Given the description of an element on the screen output the (x, y) to click on. 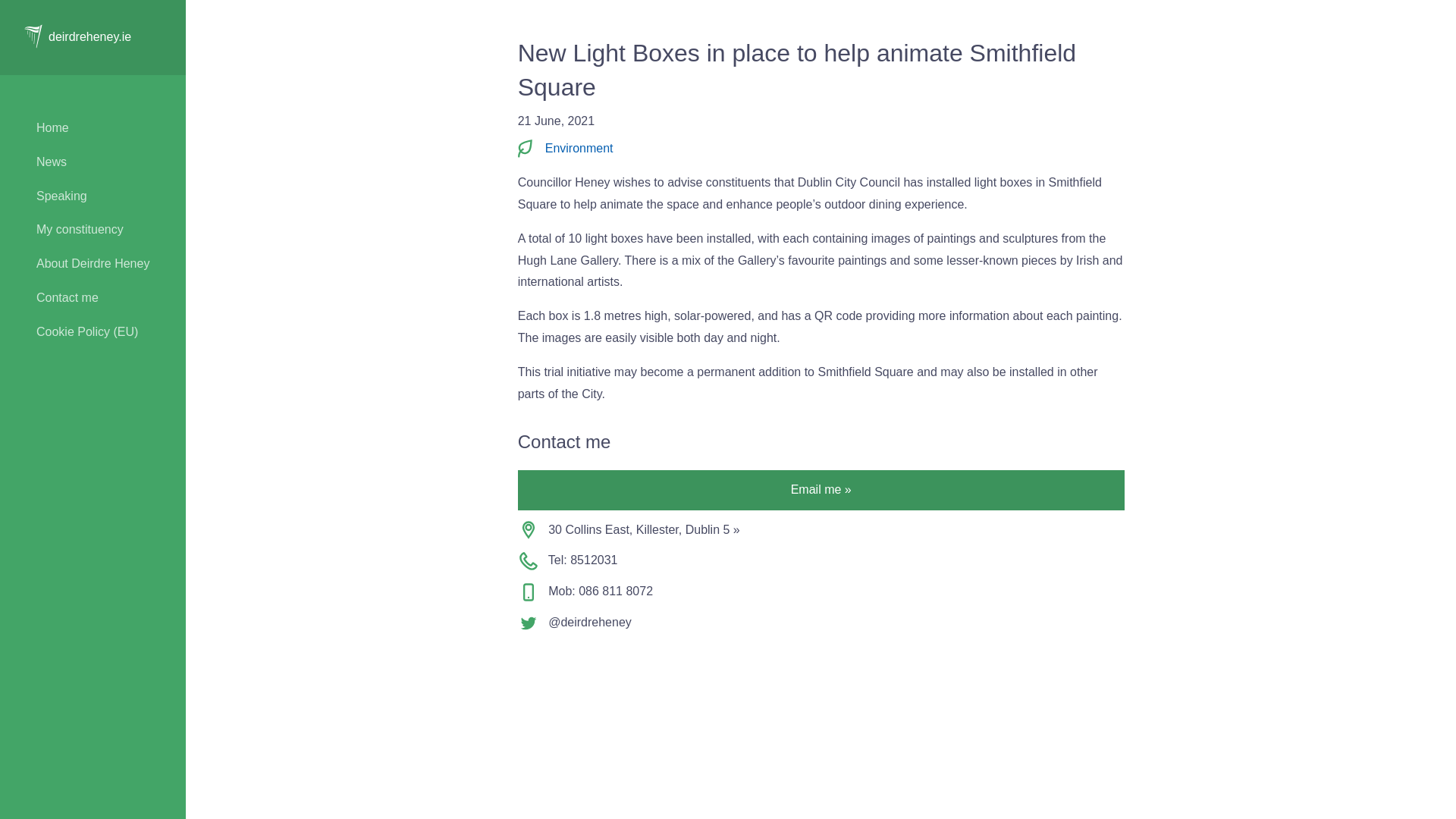
Contact me (92, 298)
News (92, 162)
Mob: 086 811 8072 (821, 591)
About Deirdre Heney (92, 264)
Home (92, 128)
Environment (578, 147)
Speaking (92, 196)
My constituency (92, 229)
Tel: 8512031 (821, 560)
deirdreheney.ie (89, 37)
